Given the description of an element on the screen output the (x, y) to click on. 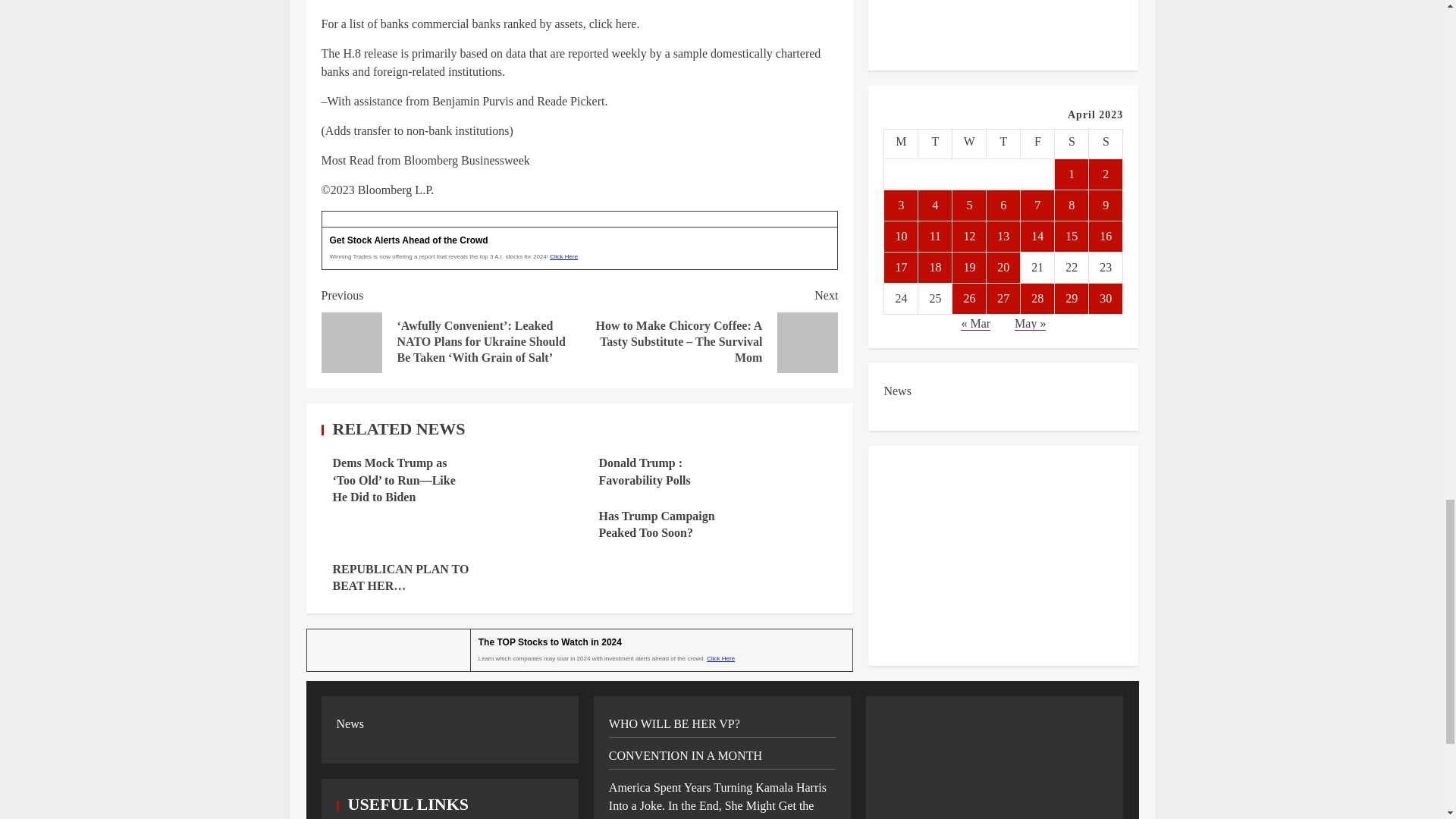
Donald Trump : Favorability Polls (644, 471)
Has Trump Campaign Peaked Too Soon? (656, 523)
